Given the description of an element on the screen output the (x, y) to click on. 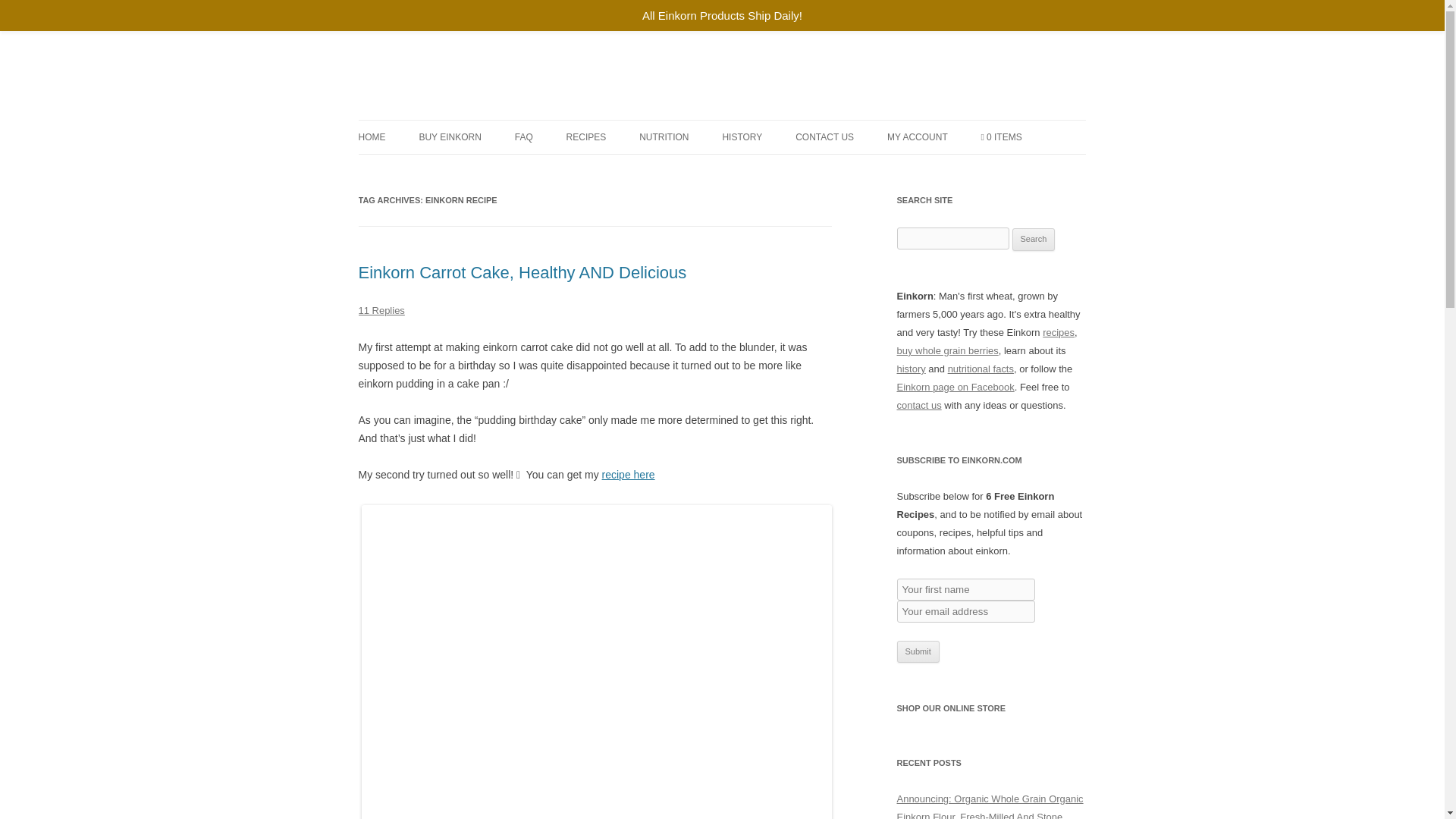
Start shopping (1001, 136)
11 Replies (381, 310)
NUTRITION (663, 136)
BUY EINKORN (449, 136)
0 ITEMS (1001, 136)
Einkorn Wheat (471, 53)
Search (1033, 239)
